Given the description of an element on the screen output the (x, y) to click on. 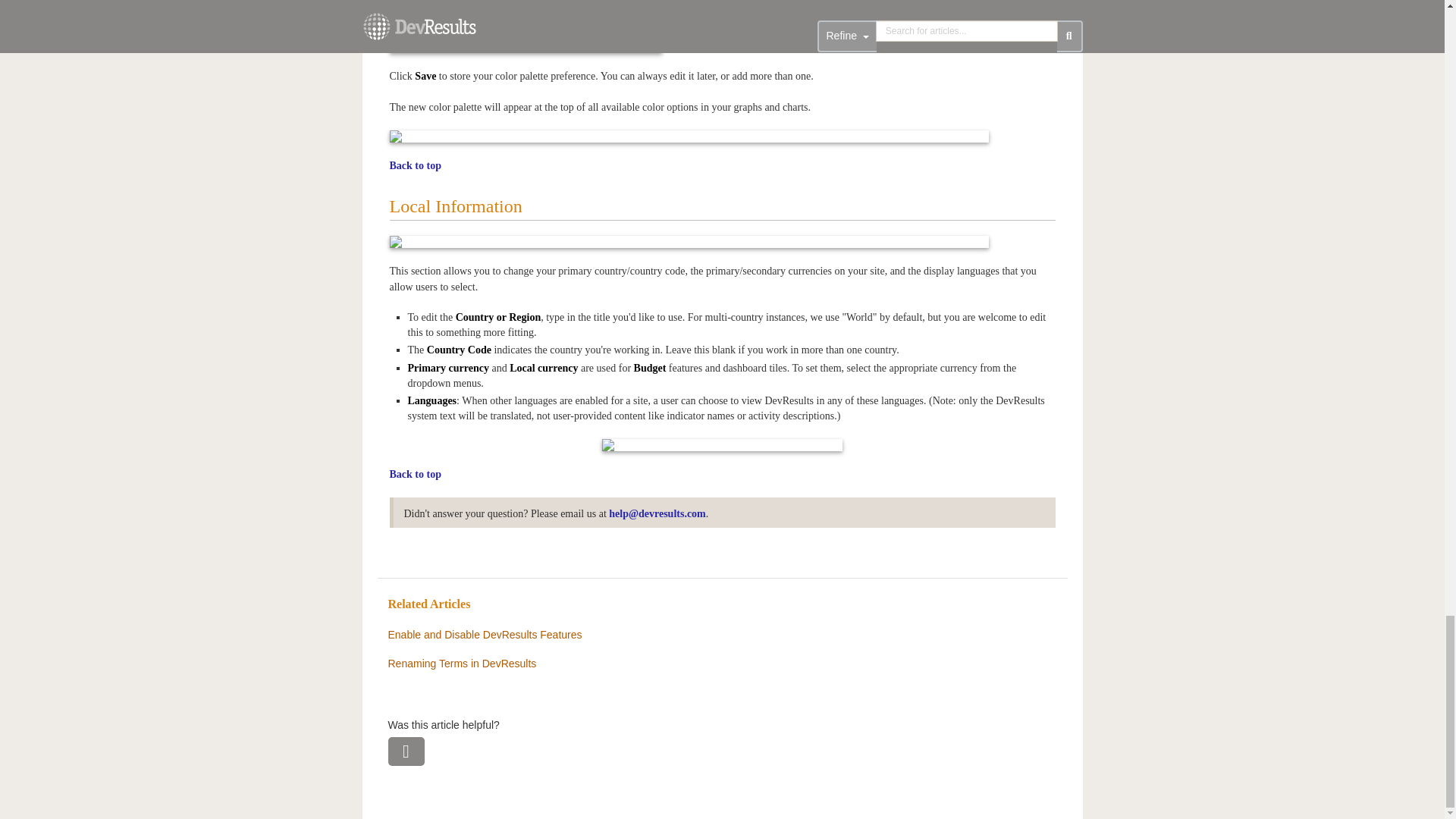
Enable and Disable DevResults Features (485, 634)
Back to top (415, 473)
Renaming Terms in DevResults (462, 663)
Back to top (415, 165)
Helpful (406, 751)
